Given the description of an element on the screen output the (x, y) to click on. 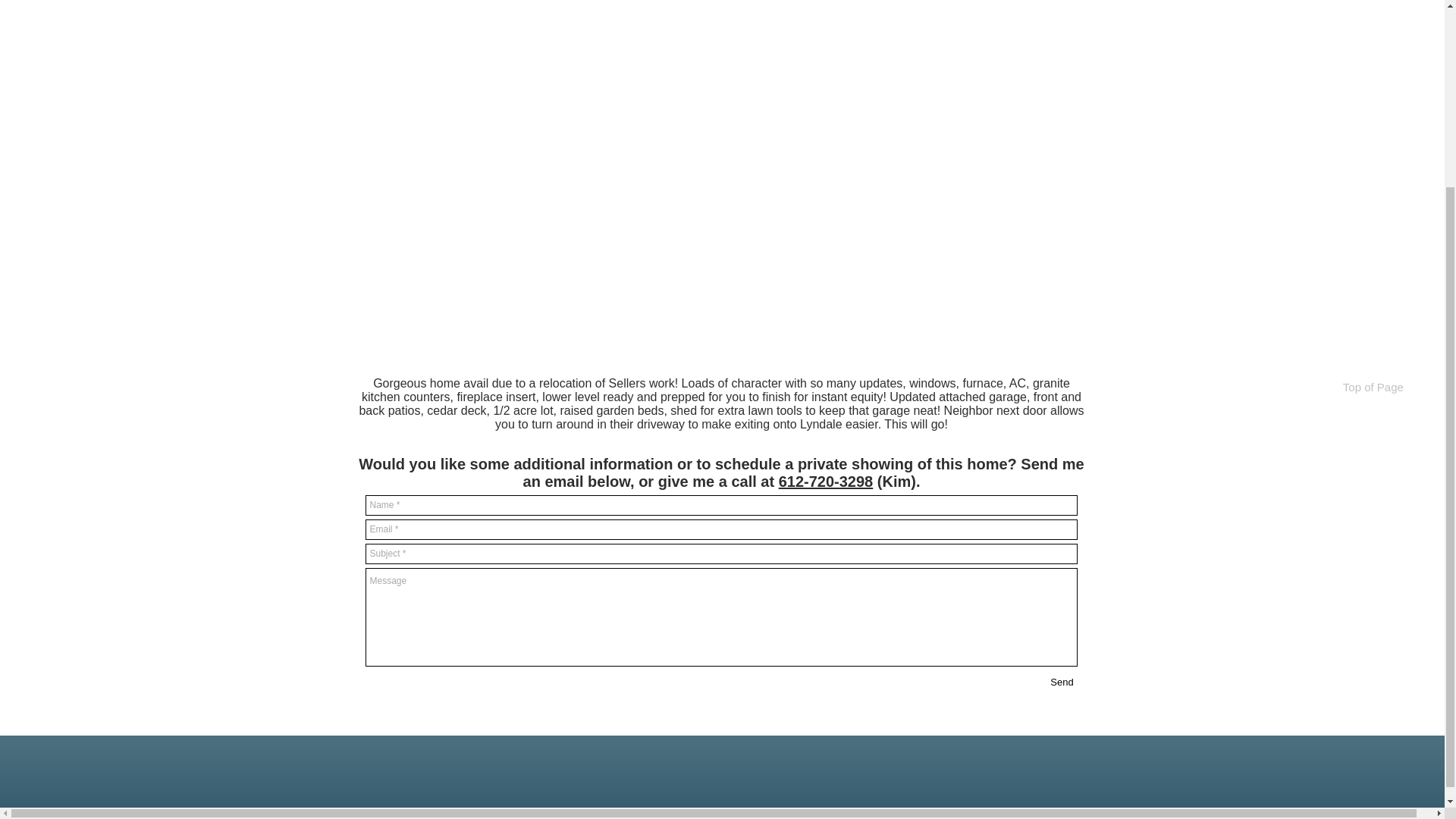
612-720-3298 (825, 481)
Send (1061, 682)
Top of Page (1371, 149)
